Given the description of an element on the screen output the (x, y) to click on. 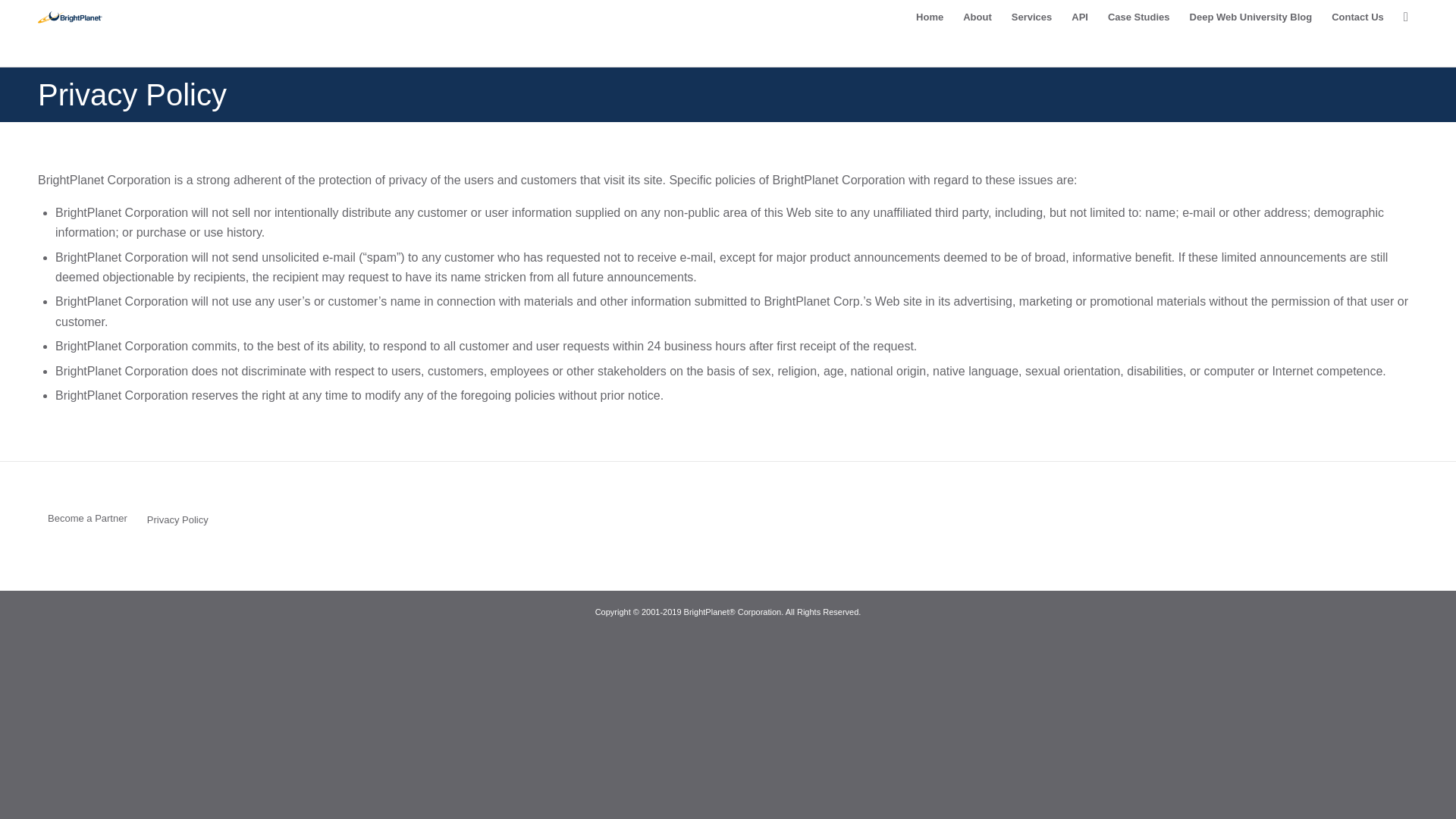
API (1079, 17)
Permanent Link: Privacy Policy (132, 94)
Become a Partner (88, 519)
Contact Us (1357, 17)
Privacy Policy (180, 520)
About (977, 17)
Case Studies (1138, 17)
Services (1031, 17)
Privacy Policy (132, 94)
Home (929, 17)
Deep Web University Blog (1250, 17)
